Given the description of an element on the screen output the (x, y) to click on. 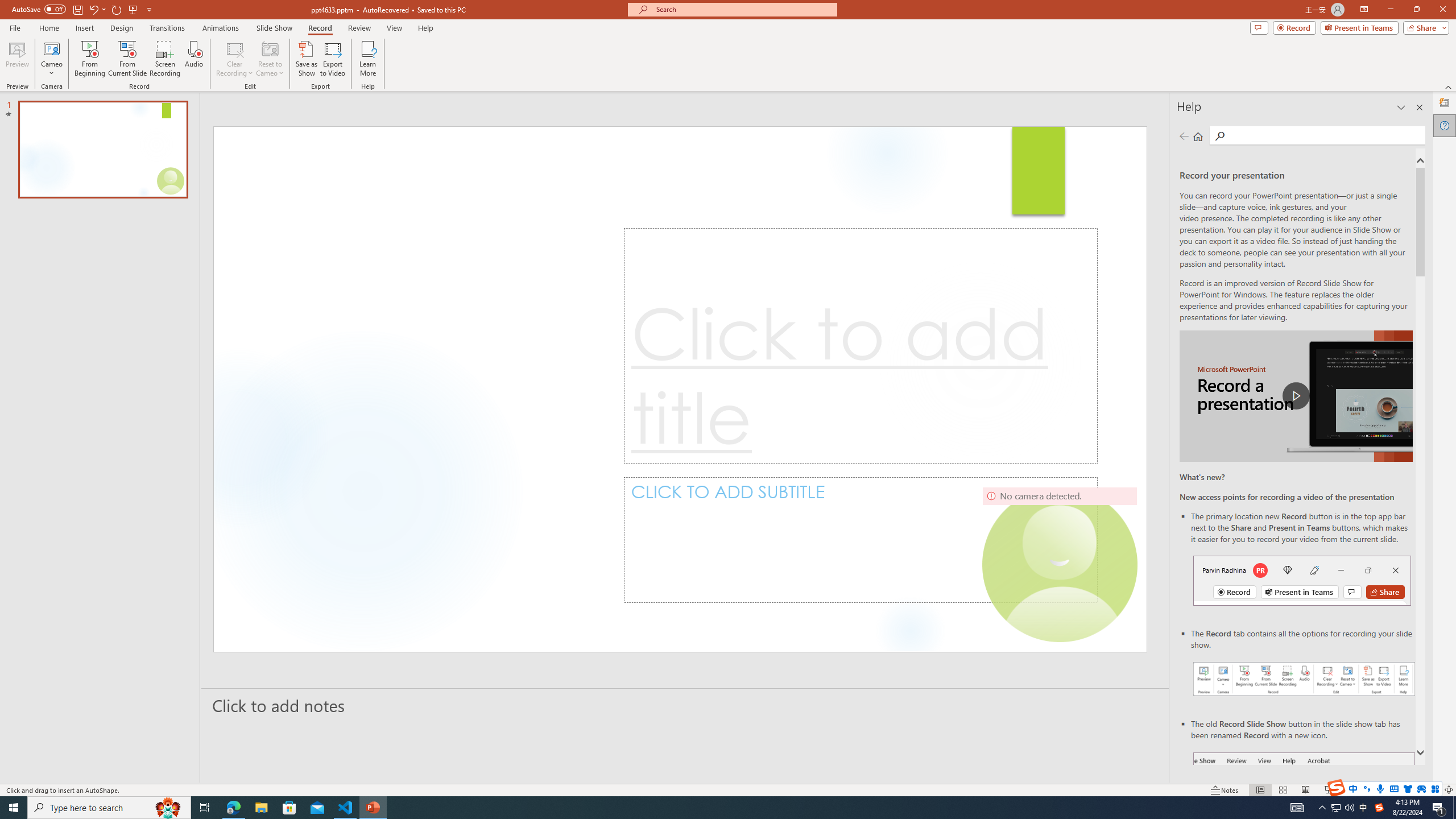
play Record a Presentation (1296, 395)
